Given the description of an element on the screen output the (x, y) to click on. 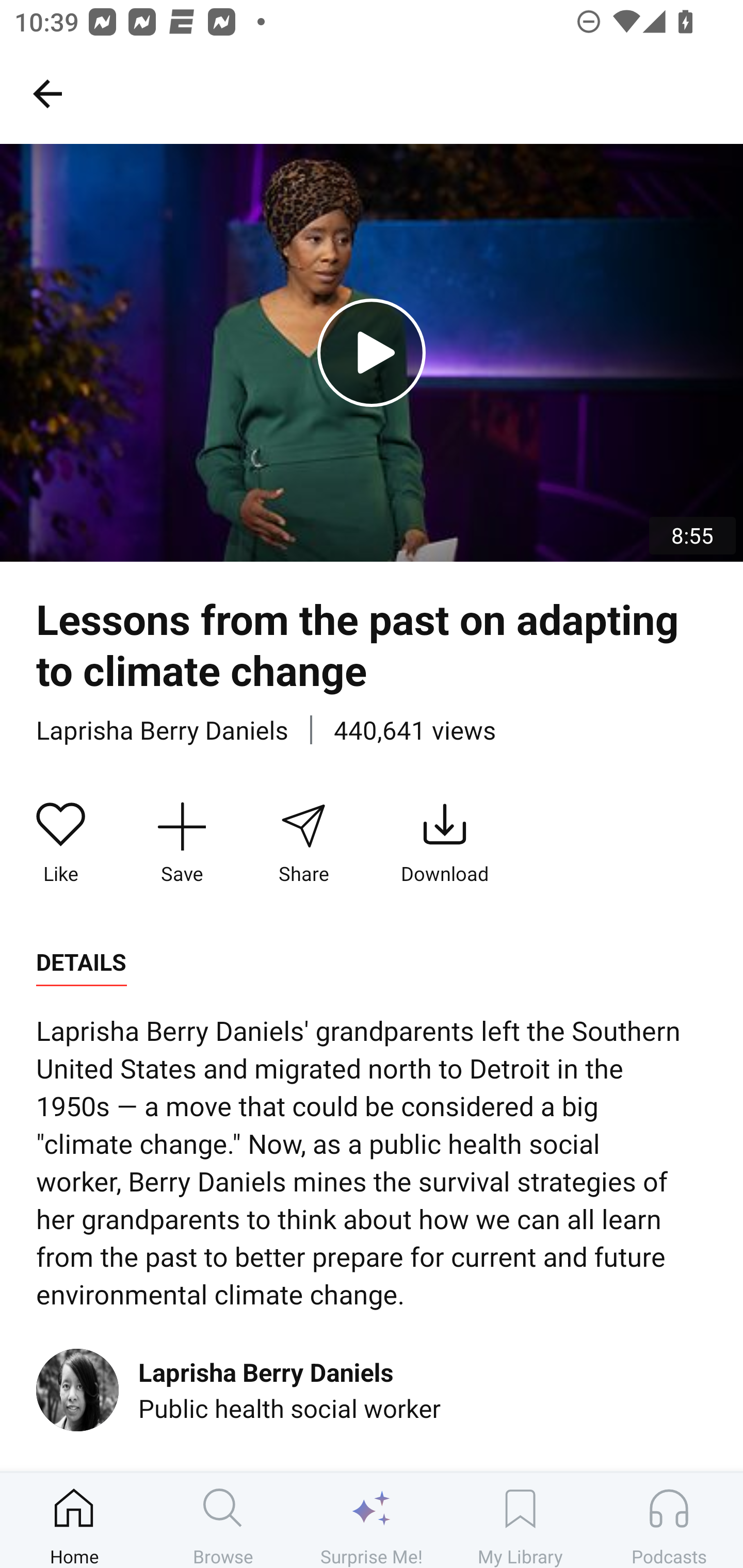
Home, back (47, 92)
Like (60, 843)
Save (181, 843)
Share (302, 843)
Download (444, 843)
DETAILS (80, 962)
Home (74, 1520)
Browse (222, 1520)
Surprise Me! (371, 1520)
My Library (519, 1520)
Podcasts (668, 1520)
